Given the description of an element on the screen output the (x, y) to click on. 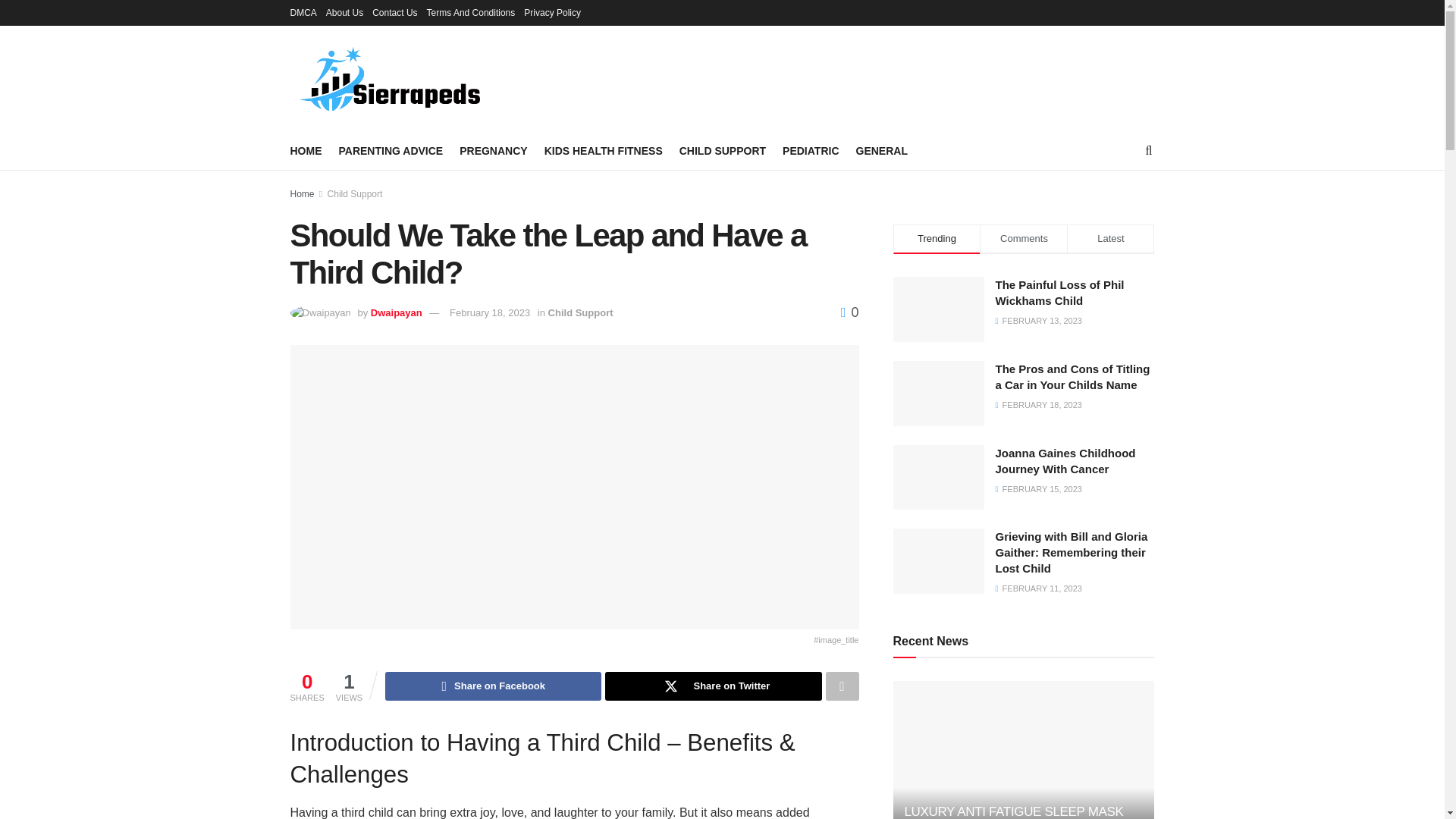
February 18, 2023 (489, 312)
Dwaipayan (396, 312)
GENERAL (881, 150)
DMCA (302, 12)
PEDIATRIC (810, 150)
Privacy Policy (552, 12)
Share on Facebook (493, 686)
Child Support (354, 194)
PREGNANCY (493, 150)
PARENTING ADVICE (389, 150)
Contact Us (394, 12)
KIDS HEALTH FITNESS (603, 150)
0 (850, 312)
About Us (344, 12)
HOME (305, 150)
